Given the description of an element on the screen output the (x, y) to click on. 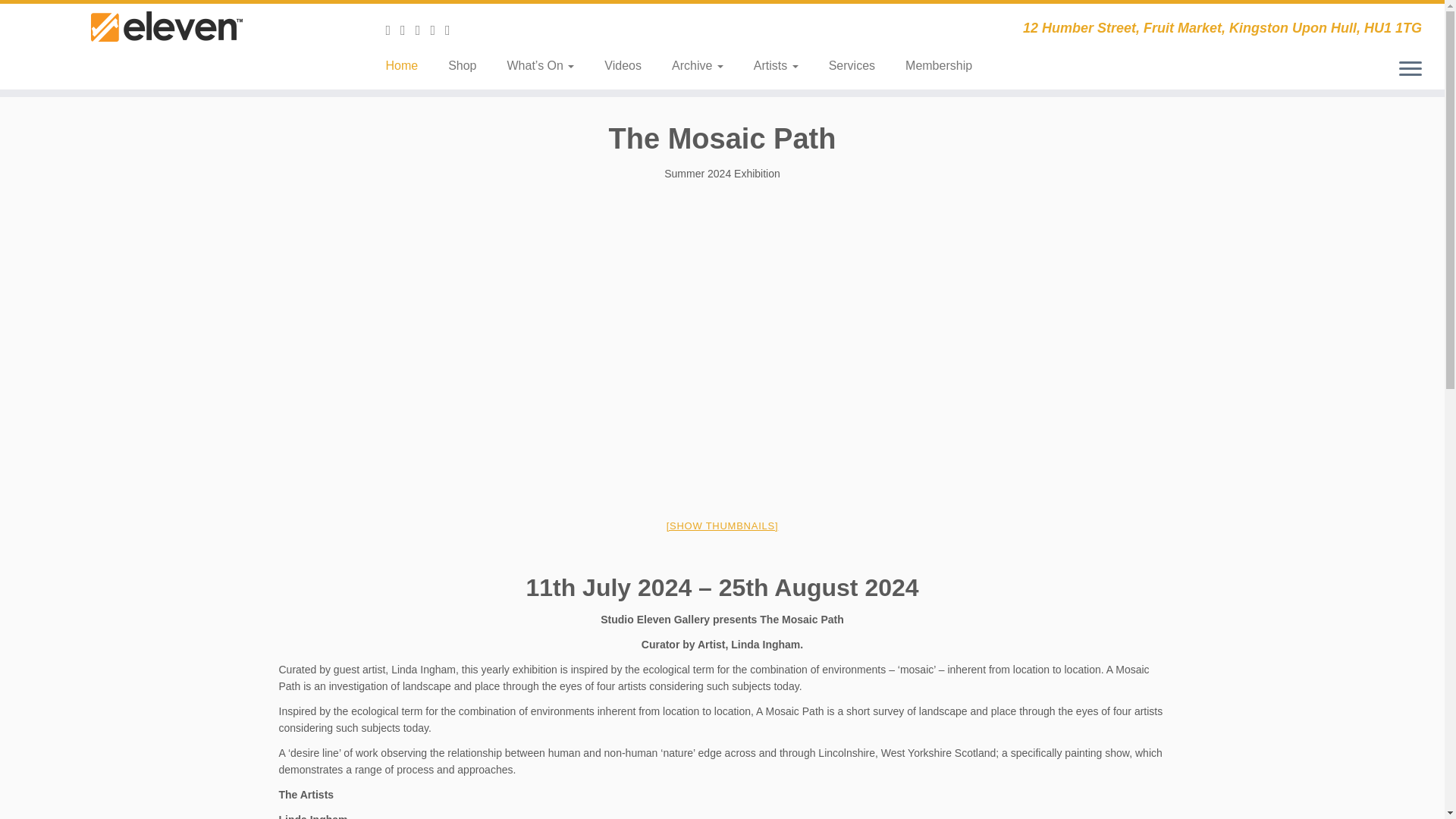
Home (406, 65)
Follow me on Facebook (452, 29)
Artists (775, 65)
E-mail (407, 29)
Videos (622, 65)
Open the menu (1410, 69)
Subscribe to my RSS Feed (392, 29)
Shop (462, 65)
Archive (697, 65)
Follow us on Instagram (422, 29)
Follow me on Twitter (437, 29)
